Given the description of an element on the screen output the (x, y) to click on. 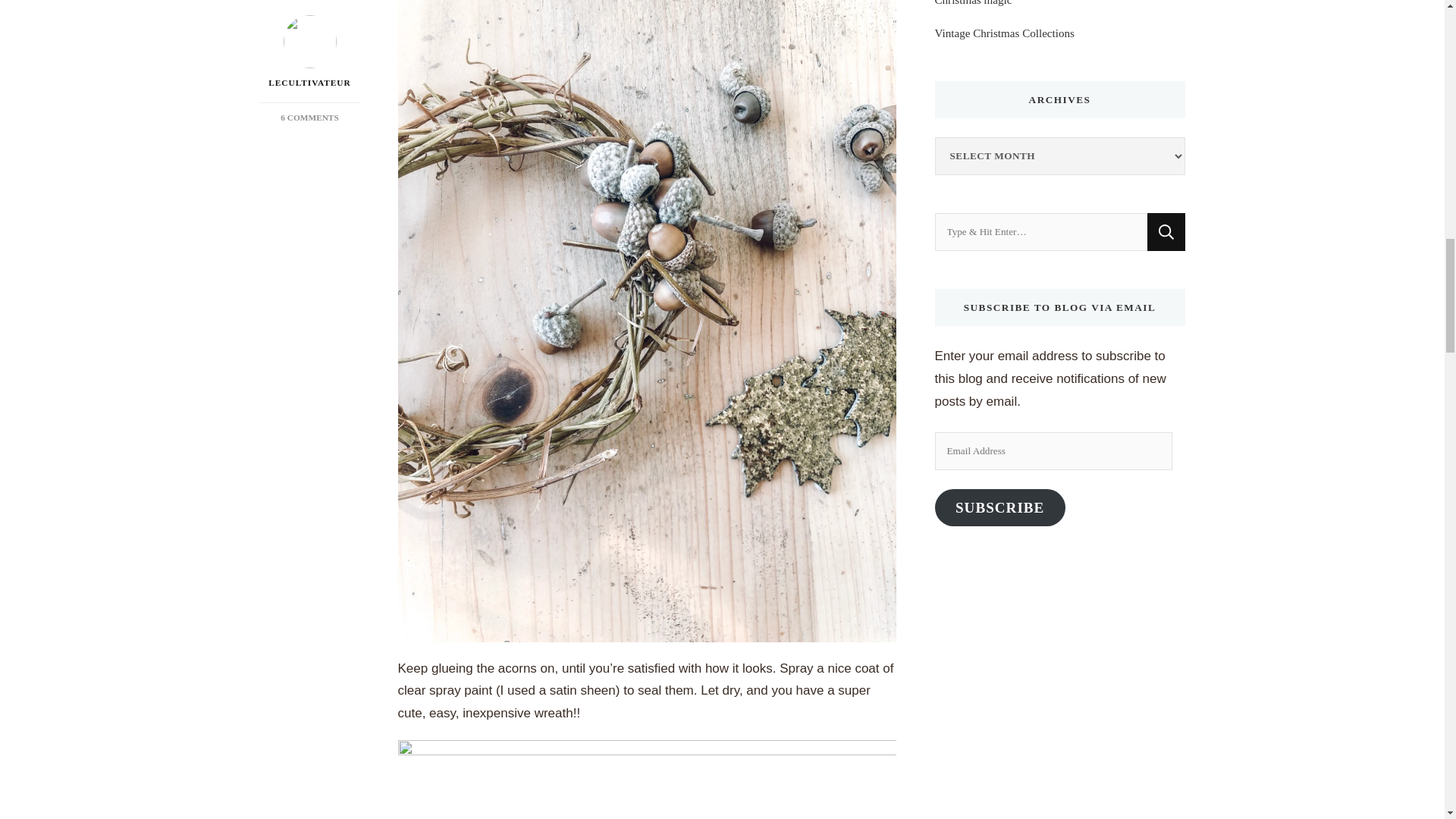
Search (1166, 231)
Search (1166, 231)
